Given the description of an element on the screen output the (x, y) to click on. 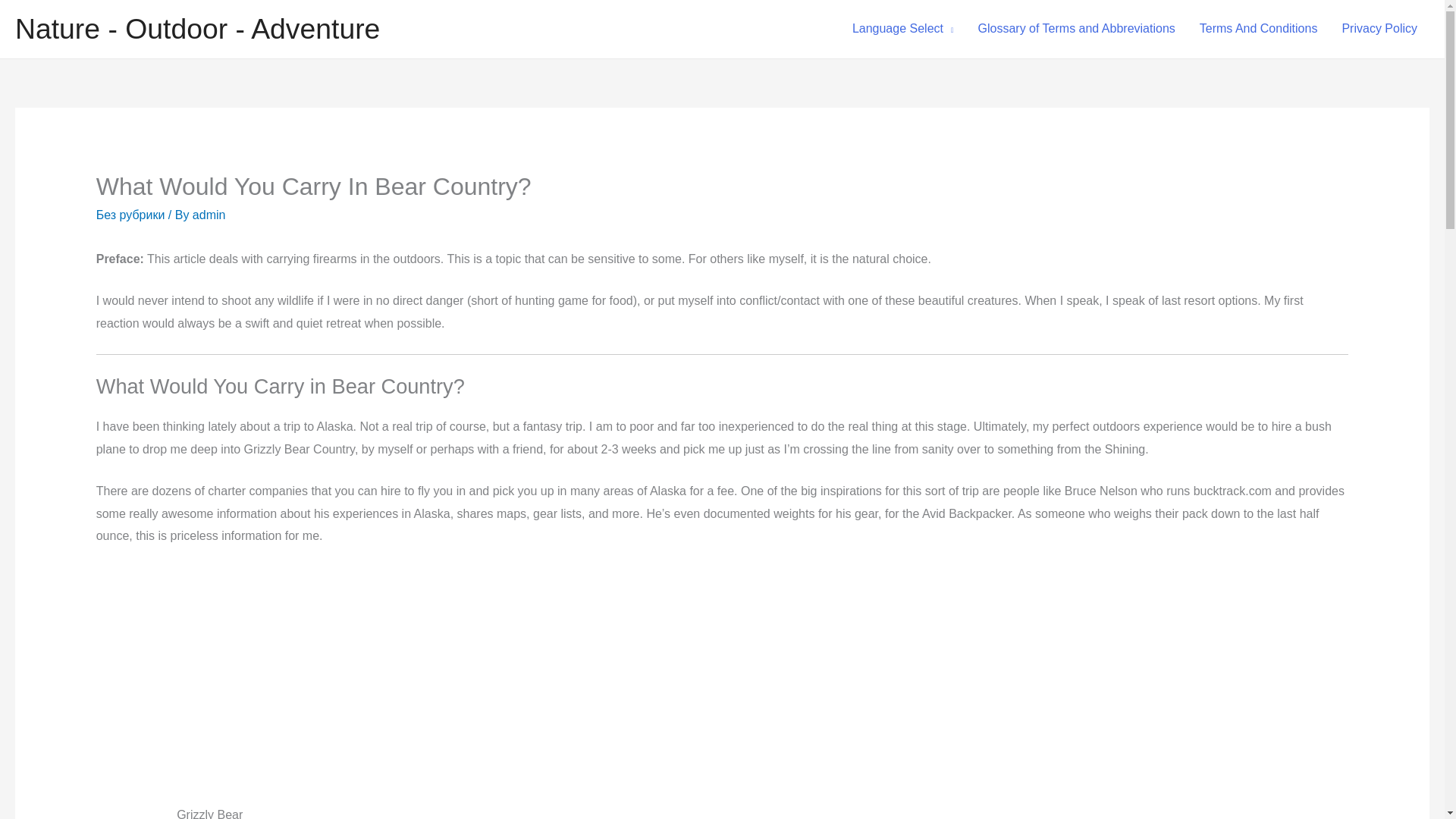
Nature - Outdoor - Adventure (197, 29)
admin (208, 214)
Privacy Policy (1379, 28)
View all posts by admin (208, 214)
Terms And Conditions (1259, 28)
Language Select (903, 28)
Glossary of Terms and Abbreviations (1077, 28)
